Given the description of an element on the screen output the (x, y) to click on. 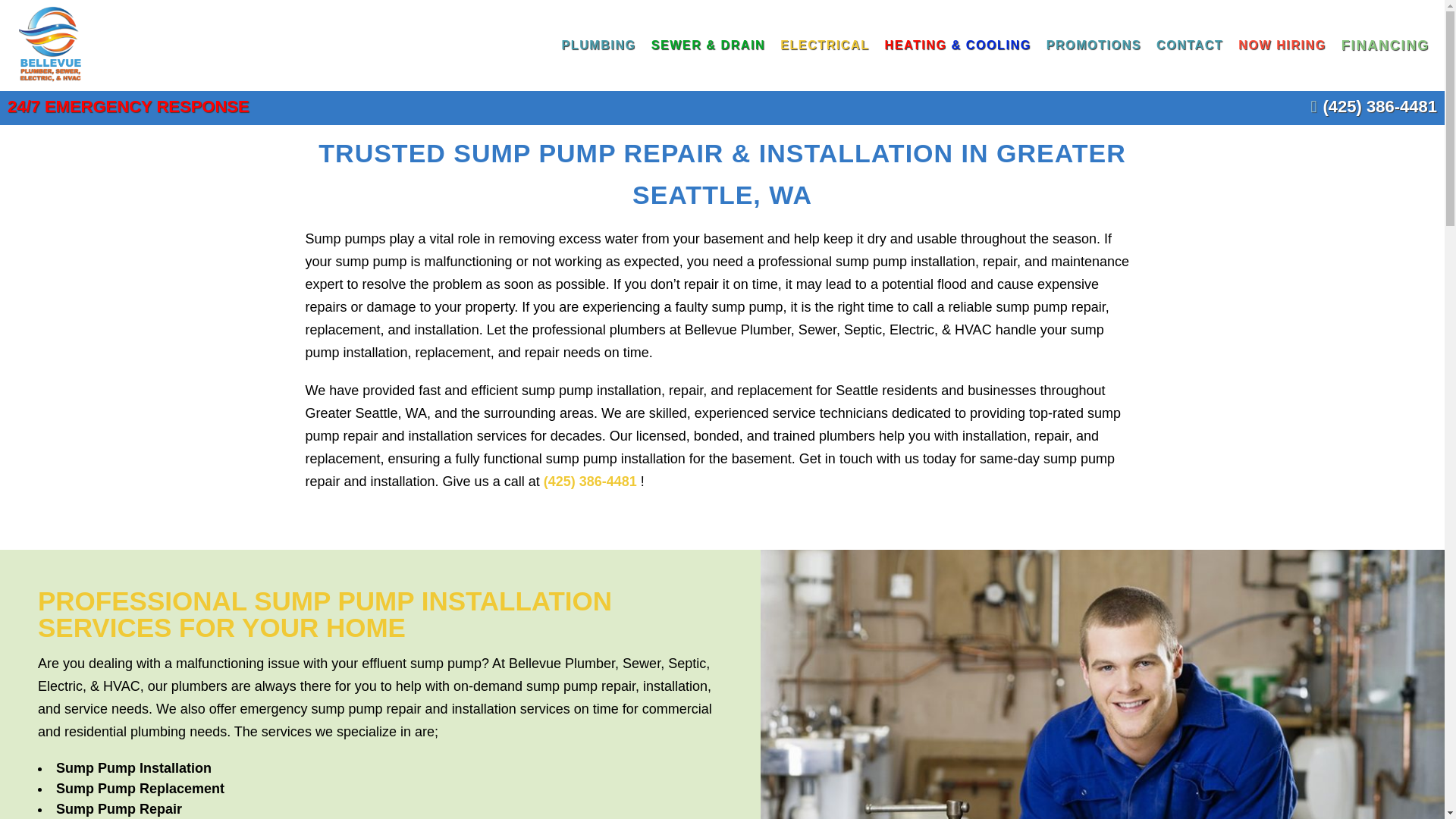
PLUMBING (598, 45)
ELECTRICAL (824, 45)
